Given the description of an element on the screen output the (x, y) to click on. 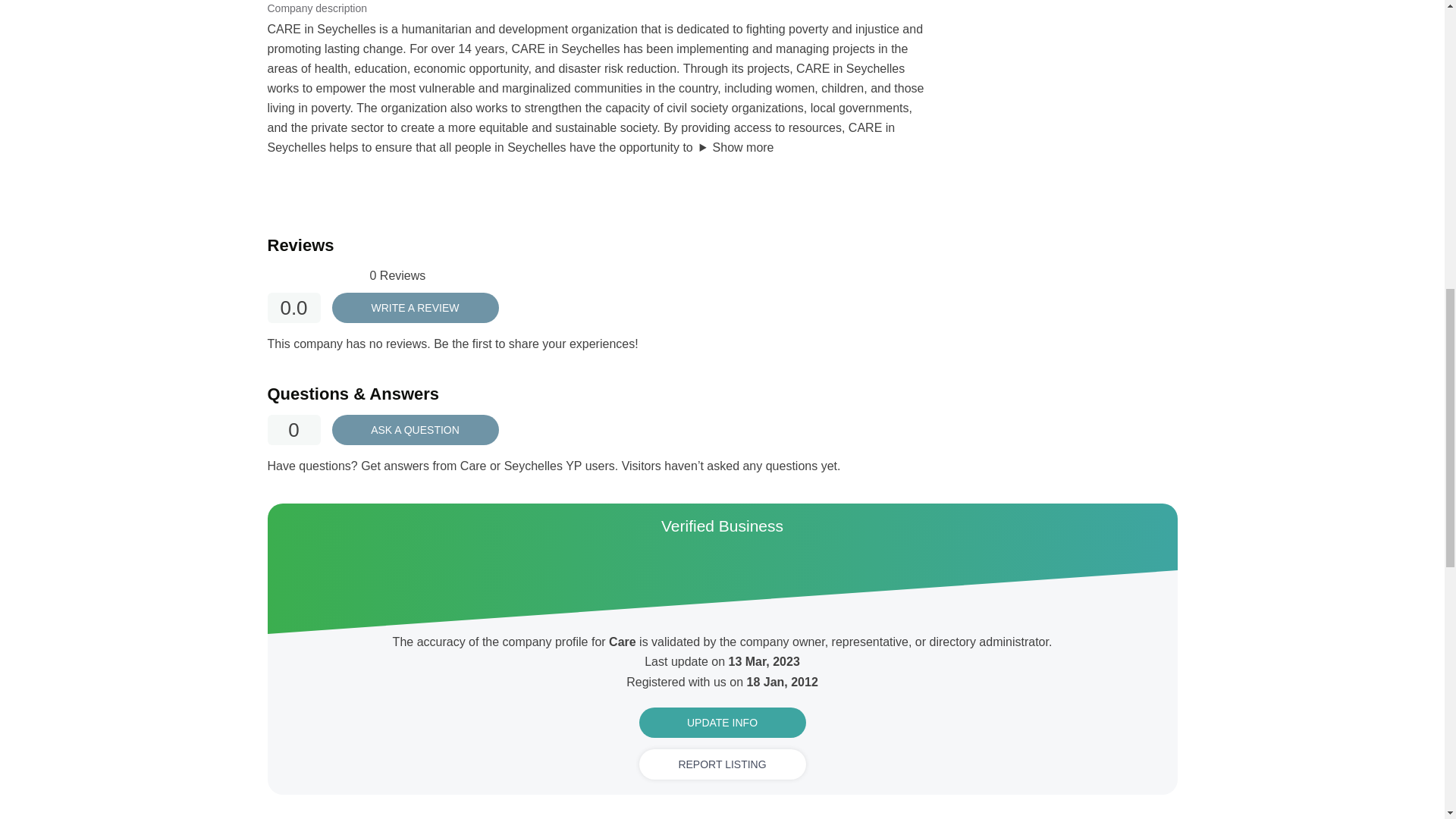
Advertisement (1062, 17)
WRITE A REVIEW (415, 307)
Update Info Care (722, 722)
UPDATE INFO (722, 722)
REPORT LISTING (722, 764)
ASK A QUESTION (415, 429)
